Given the description of an element on the screen output the (x, y) to click on. 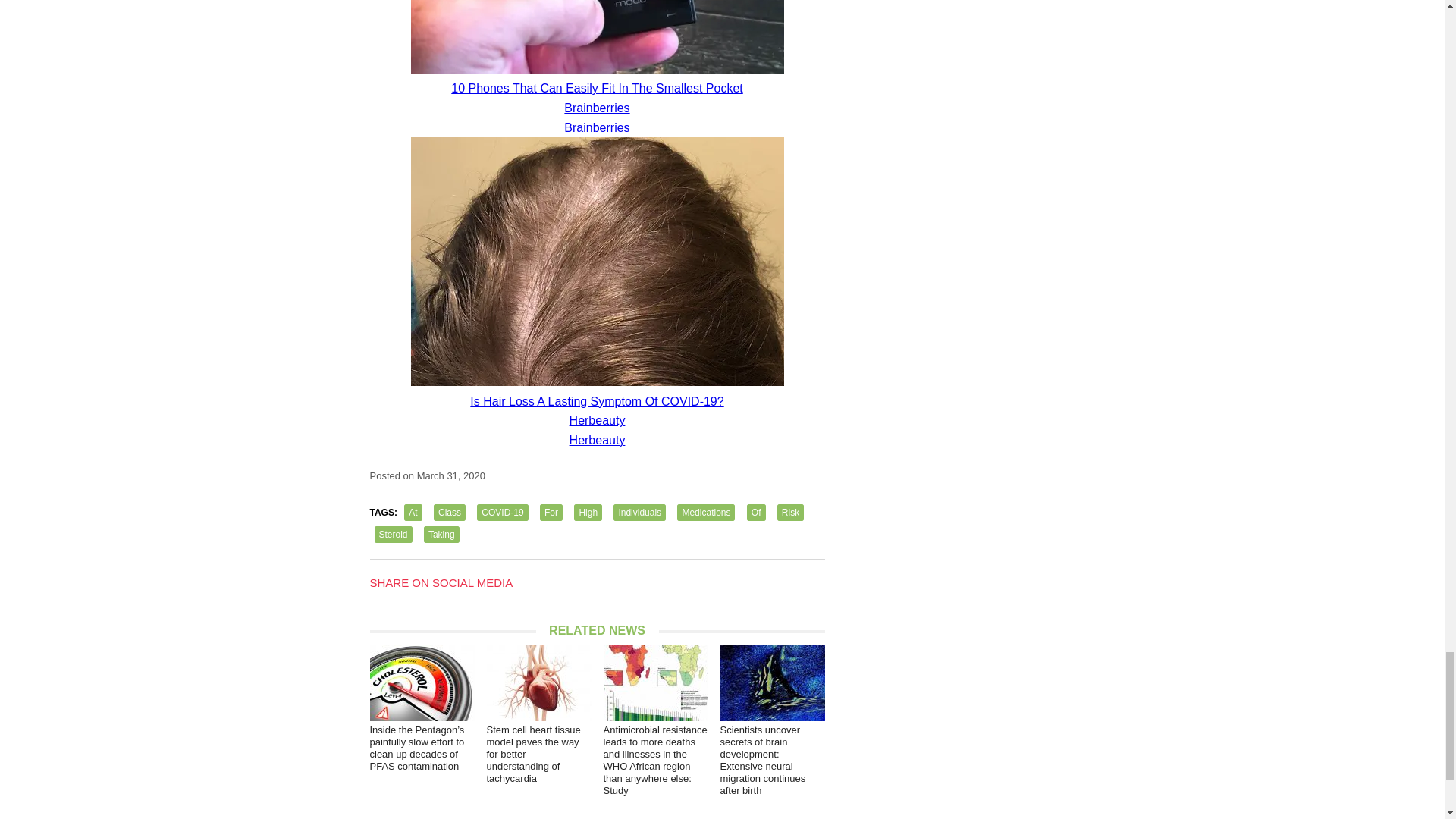
Individuals (638, 512)
At (413, 512)
Class (449, 512)
Steroid (393, 534)
High (587, 512)
Medications (706, 512)
Taking (441, 534)
Of (755, 512)
For (551, 512)
COVID-19 (502, 512)
Risk (790, 512)
